Given the description of an element on the screen output the (x, y) to click on. 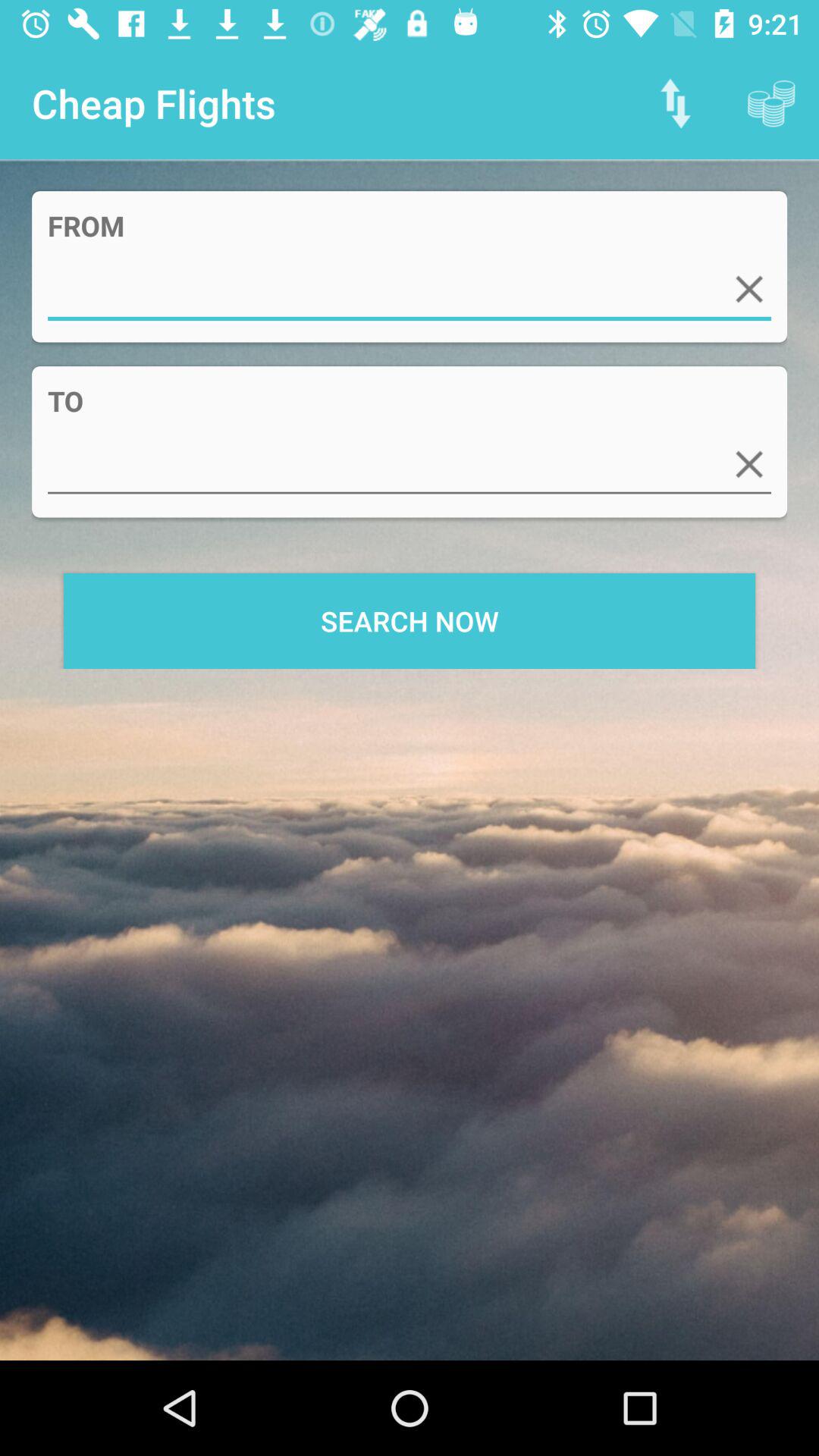
press item below to (409, 464)
